Given the description of an element on the screen output the (x, y) to click on. 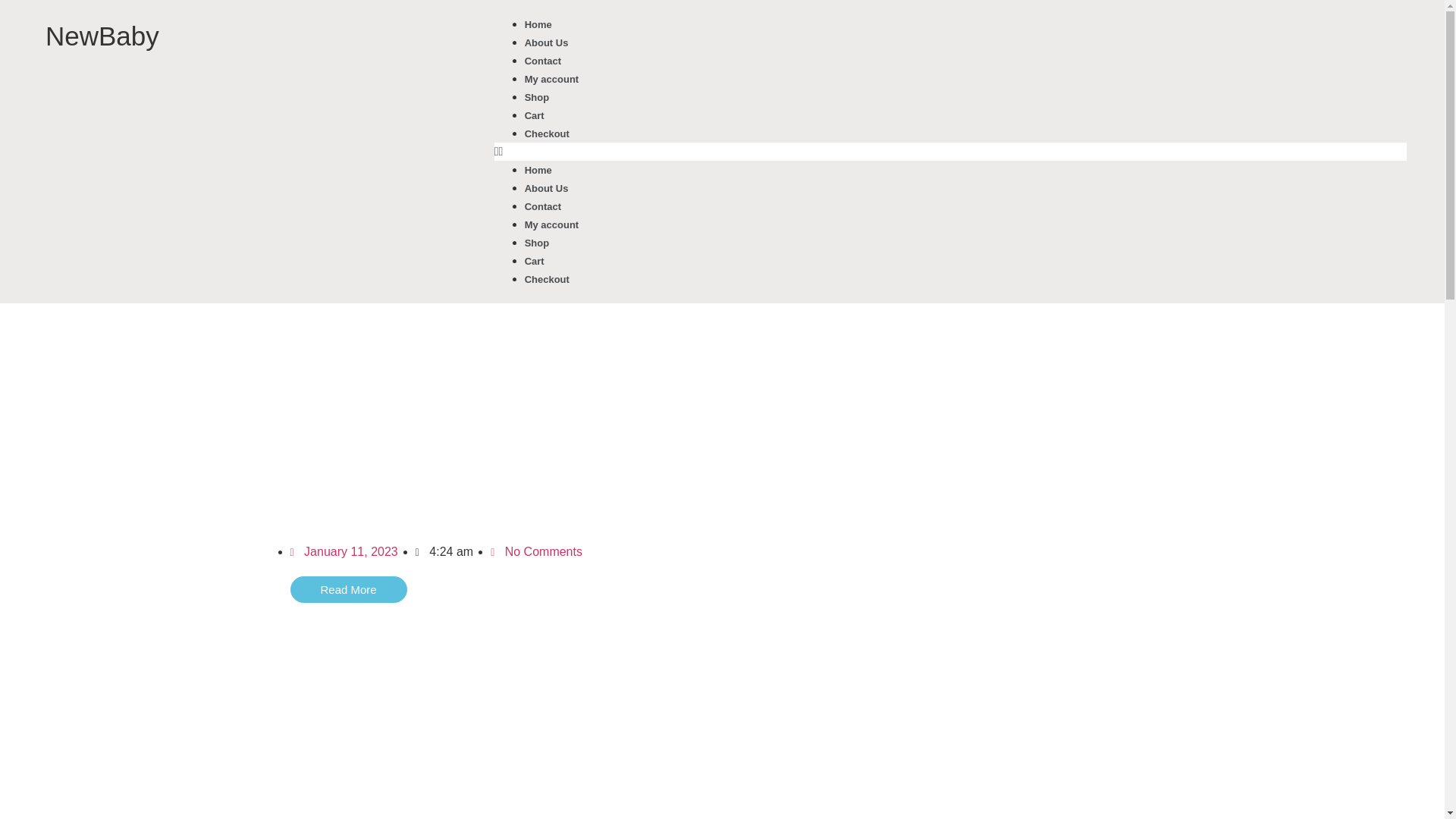
Home (537, 170)
About Us (546, 42)
About Us (546, 188)
Shop (537, 242)
Cart (534, 115)
Contact (542, 206)
No Comments (536, 551)
My account (551, 224)
Home (537, 24)
Contact (542, 60)
